Given the description of an element on the screen output the (x, y) to click on. 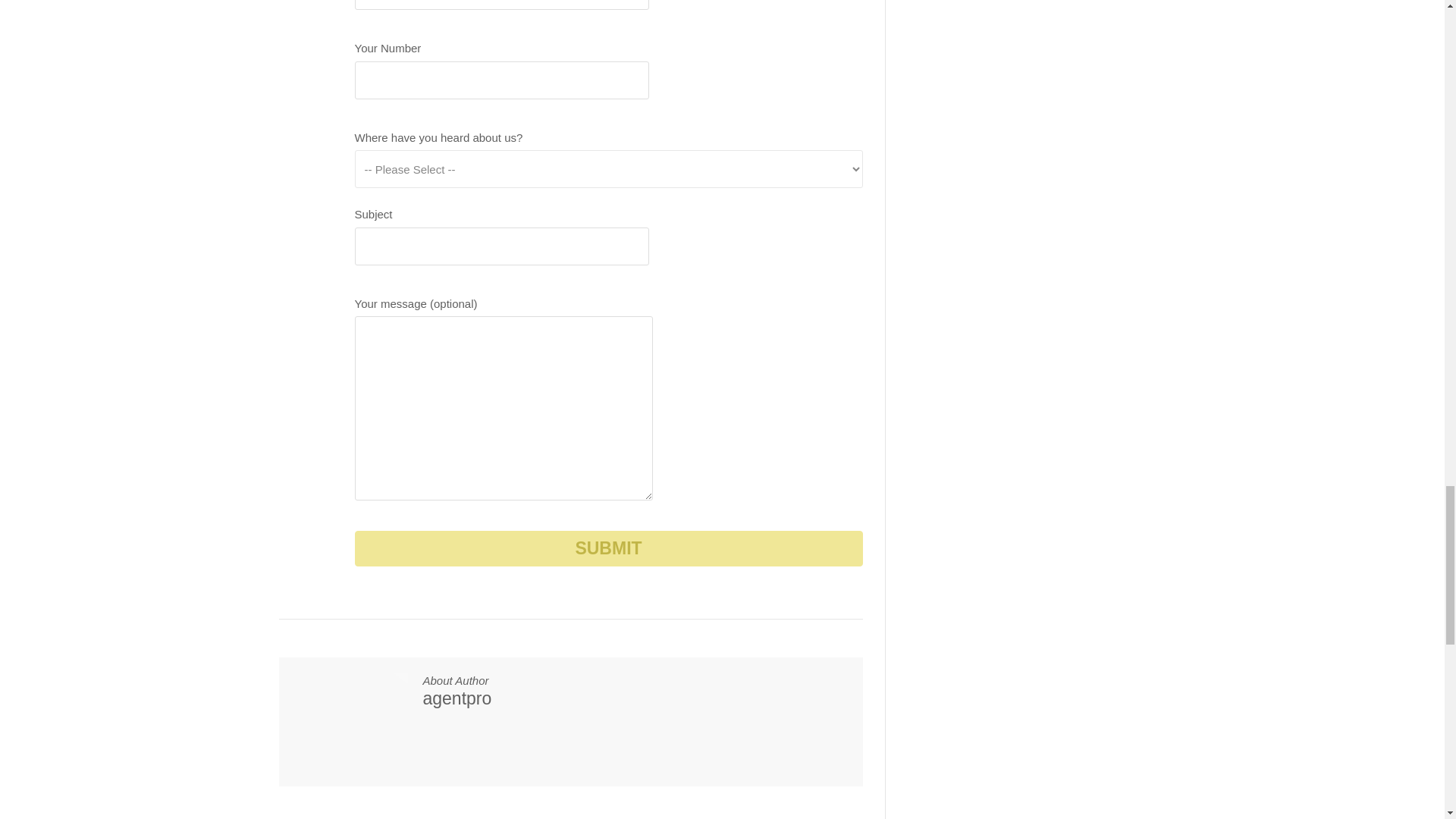
agentpro (457, 698)
Submit (609, 548)
Submit (609, 548)
